Given the description of an element on the screen output the (x, y) to click on. 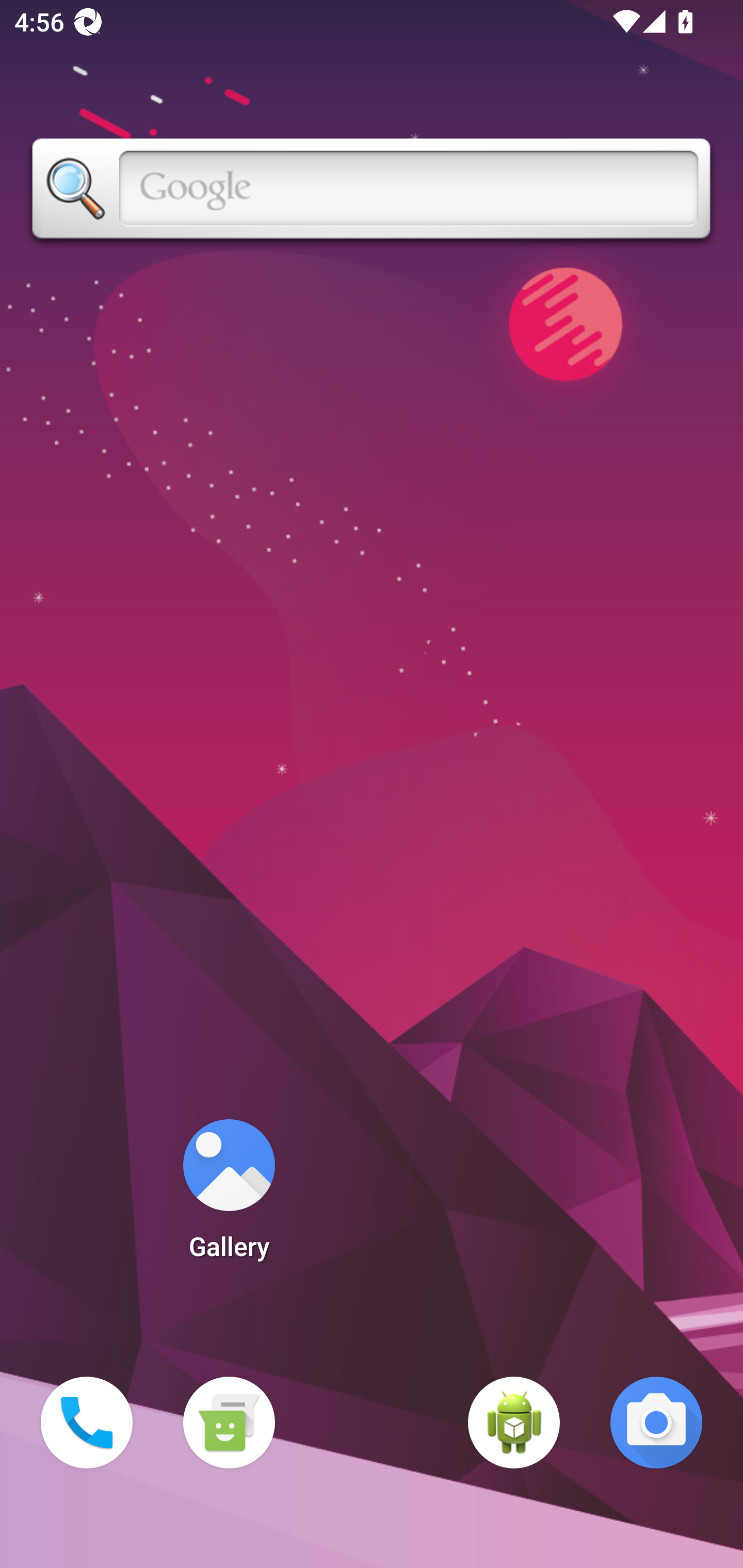
Gallery (228, 1195)
Phone (86, 1422)
Messaging (228, 1422)
WebView Browser Tester (513, 1422)
Camera (656, 1422)
